Given the description of an element on the screen output the (x, y) to click on. 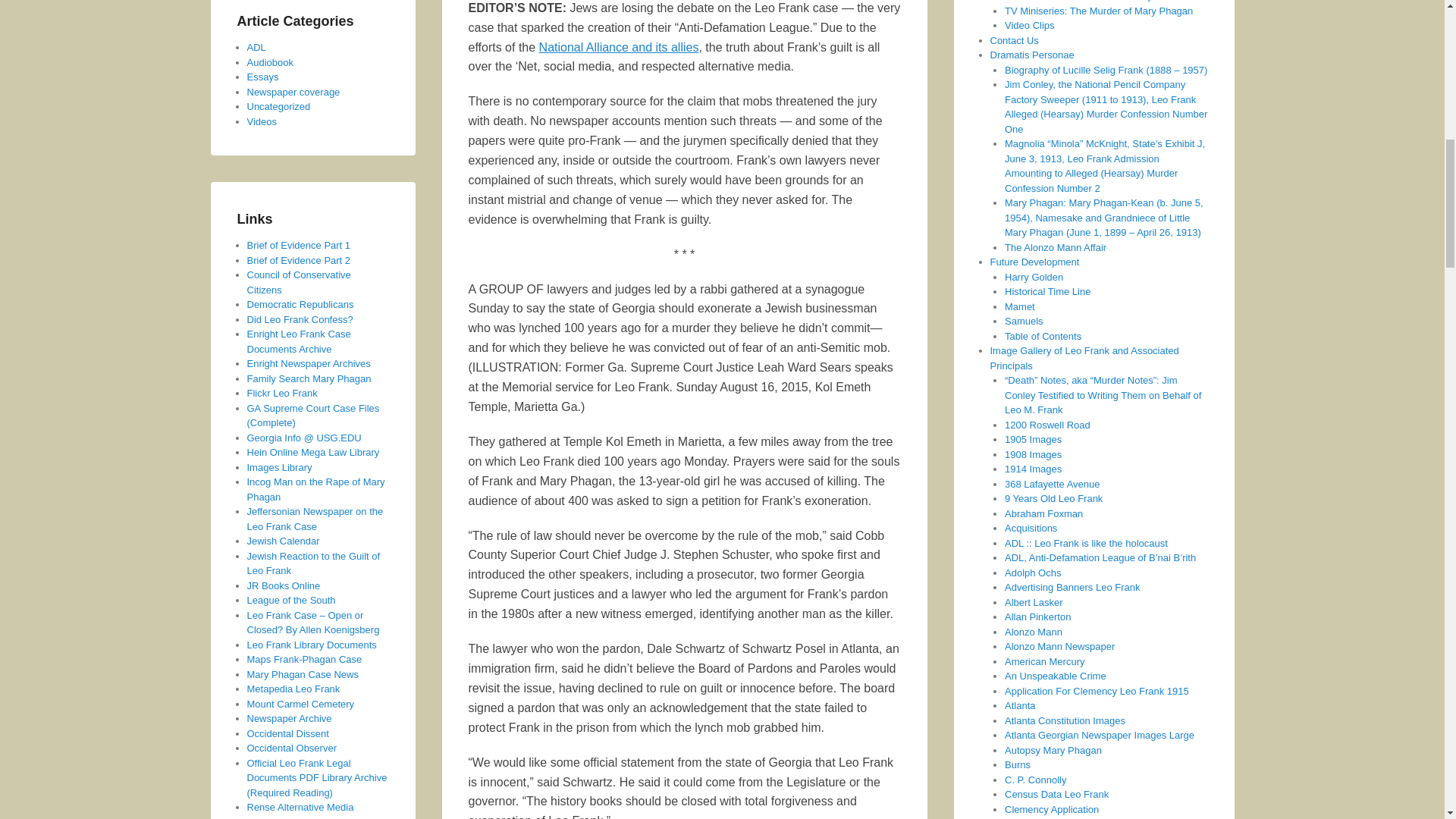
Mount Carmel Cemetery New York (301, 704)
